Given the description of an element on the screen output the (x, y) to click on. 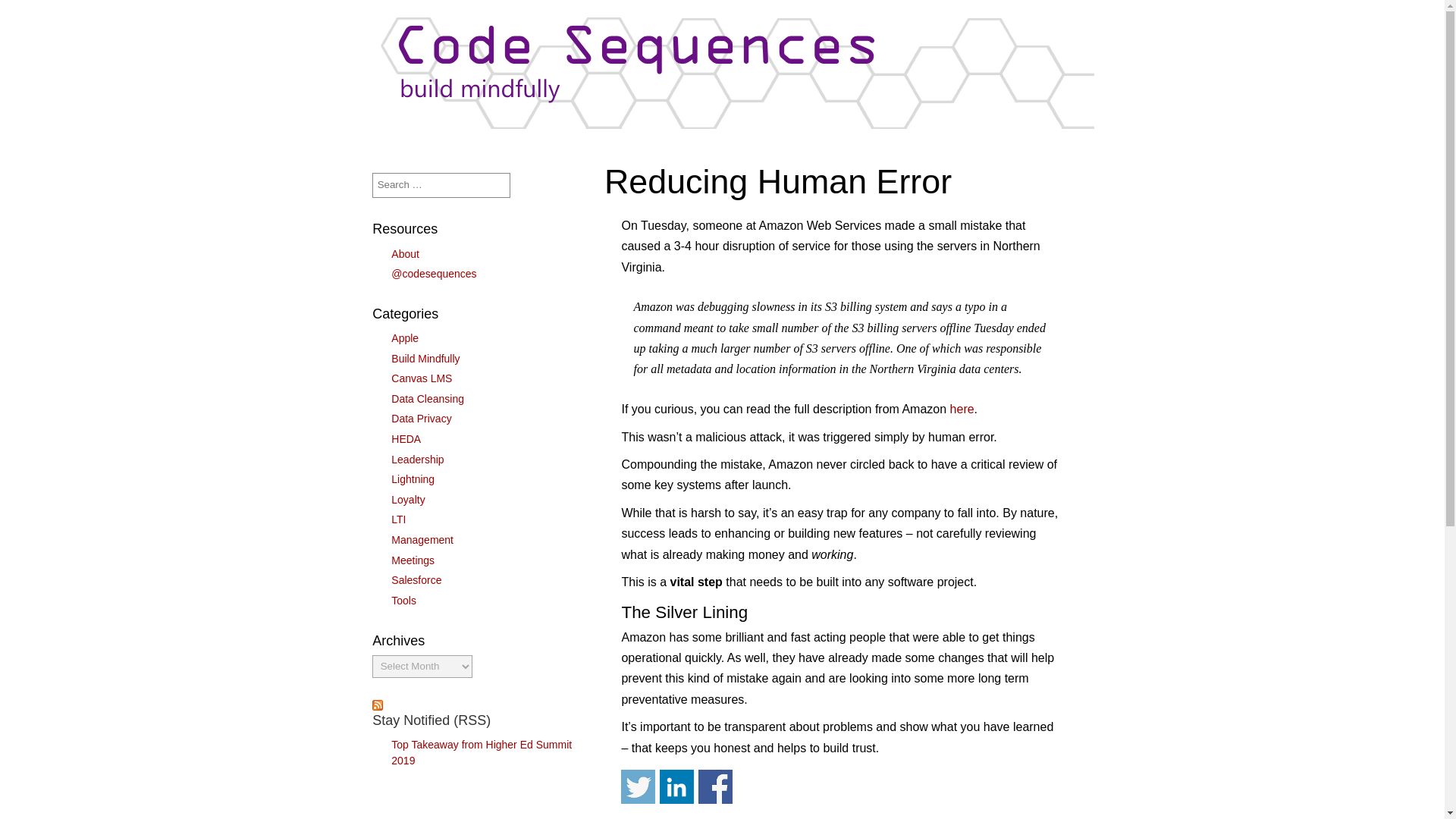
Build Mindfully (425, 358)
Data Privacy (421, 418)
HEDA (405, 439)
LTI (398, 519)
Search (21, 12)
Canvas LMS (421, 378)
Top Takeaway from Higher Ed Summit 2019 (481, 752)
Lightning (412, 479)
Apple (405, 337)
Leadership (417, 459)
